Given the description of an element on the screen output the (x, y) to click on. 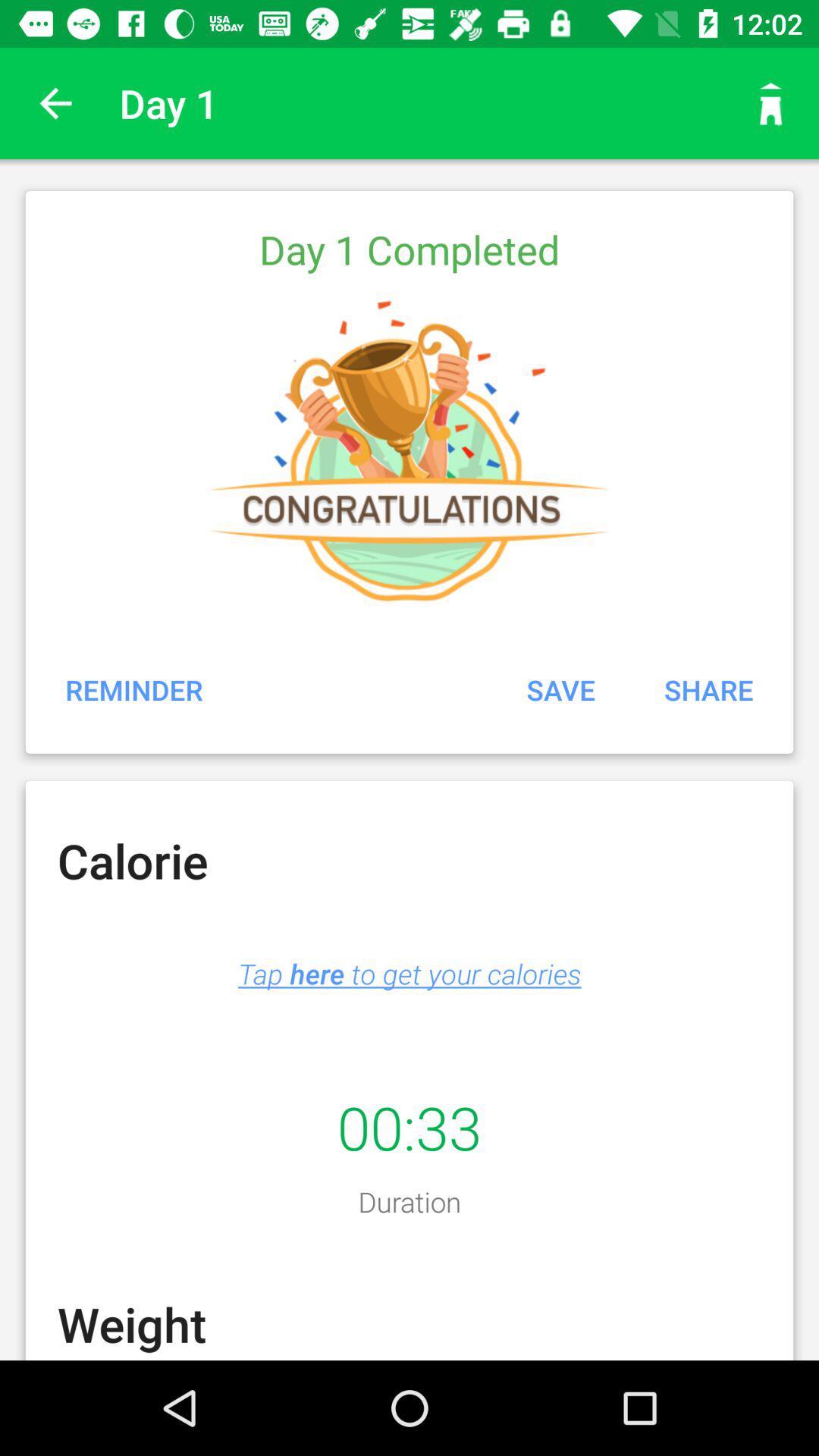
return to home screen (771, 103)
